Given the description of an element on the screen output the (x, y) to click on. 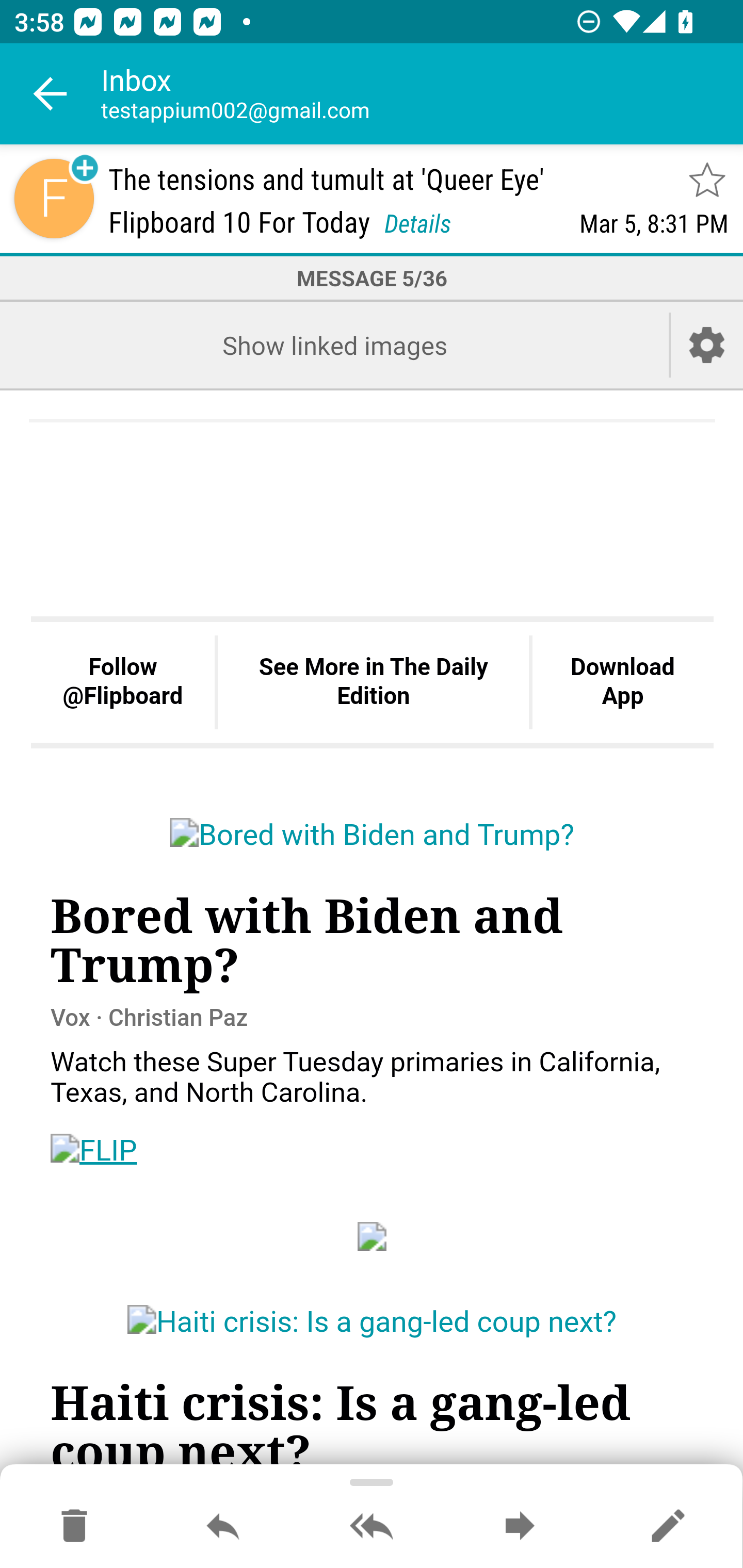
Navigate up (50, 93)
Inbox testappium002@gmail.com (422, 93)
Sender contact button (53, 198)
Show linked images (334, 344)
Account setup (706, 344)
Follow @Flipboard Follow  @Flipboard (122, 682)
See More in The Daily Edition (372, 682)
Download App (622, 682)
FLIP (93, 1150)
data: (372, 1235)
Move to Deleted (74, 1527)
Reply (222, 1527)
Reply all (371, 1527)
Forward (519, 1527)
Reply as new (667, 1527)
